Given the description of an element on the screen output the (x, y) to click on. 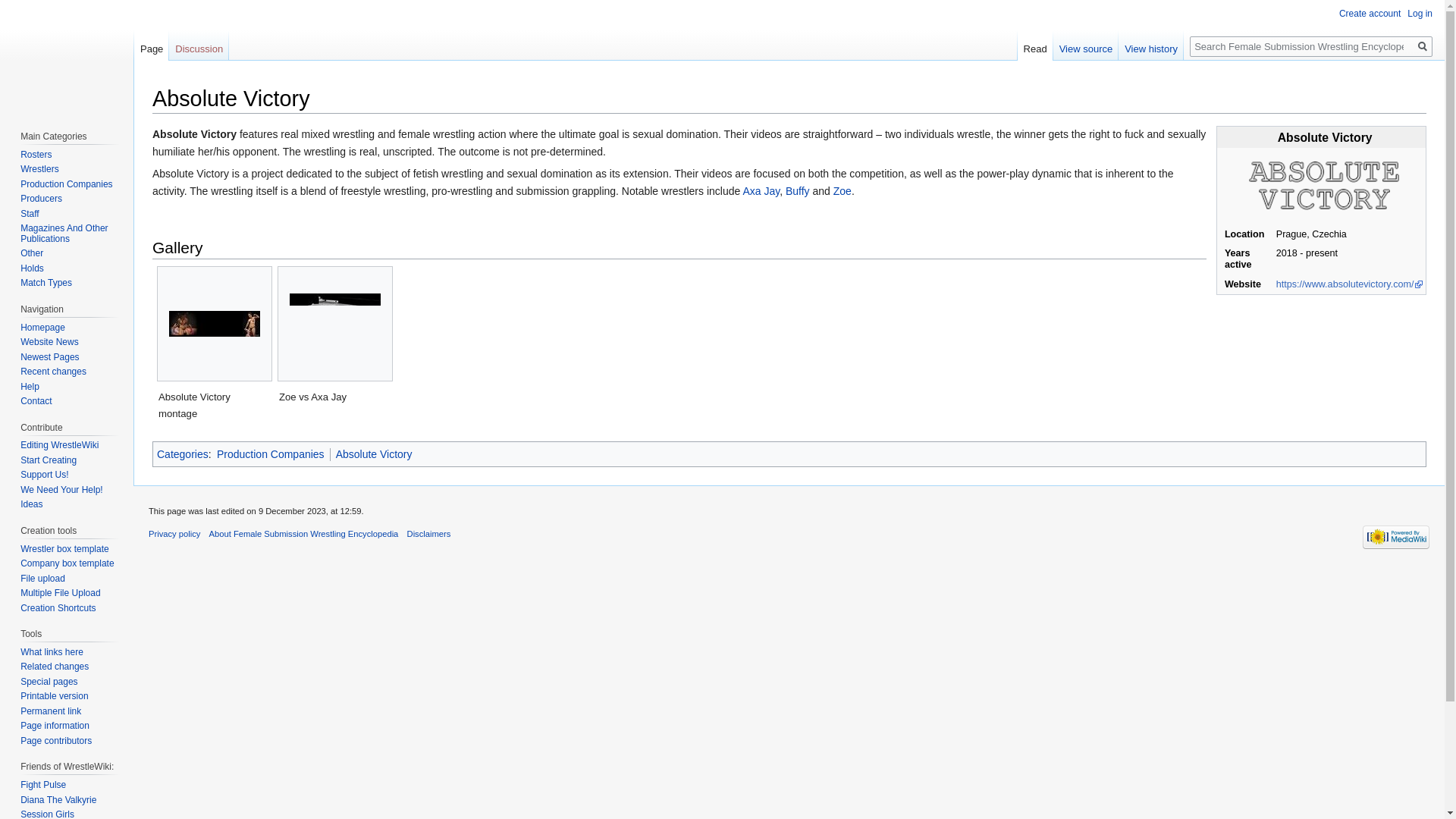
Homepage (42, 327)
Producers (41, 198)
Special:Categories (182, 453)
Category:Production Companies (270, 453)
Discussion (198, 45)
Rosters (35, 154)
Zoe (841, 191)
Axa Jay (760, 191)
Match Types (45, 282)
Magazines And Other Publications (63, 233)
Contact (35, 400)
Go (1422, 46)
Create account (1369, 13)
Search (1422, 46)
